Given the description of an element on the screen output the (x, y) to click on. 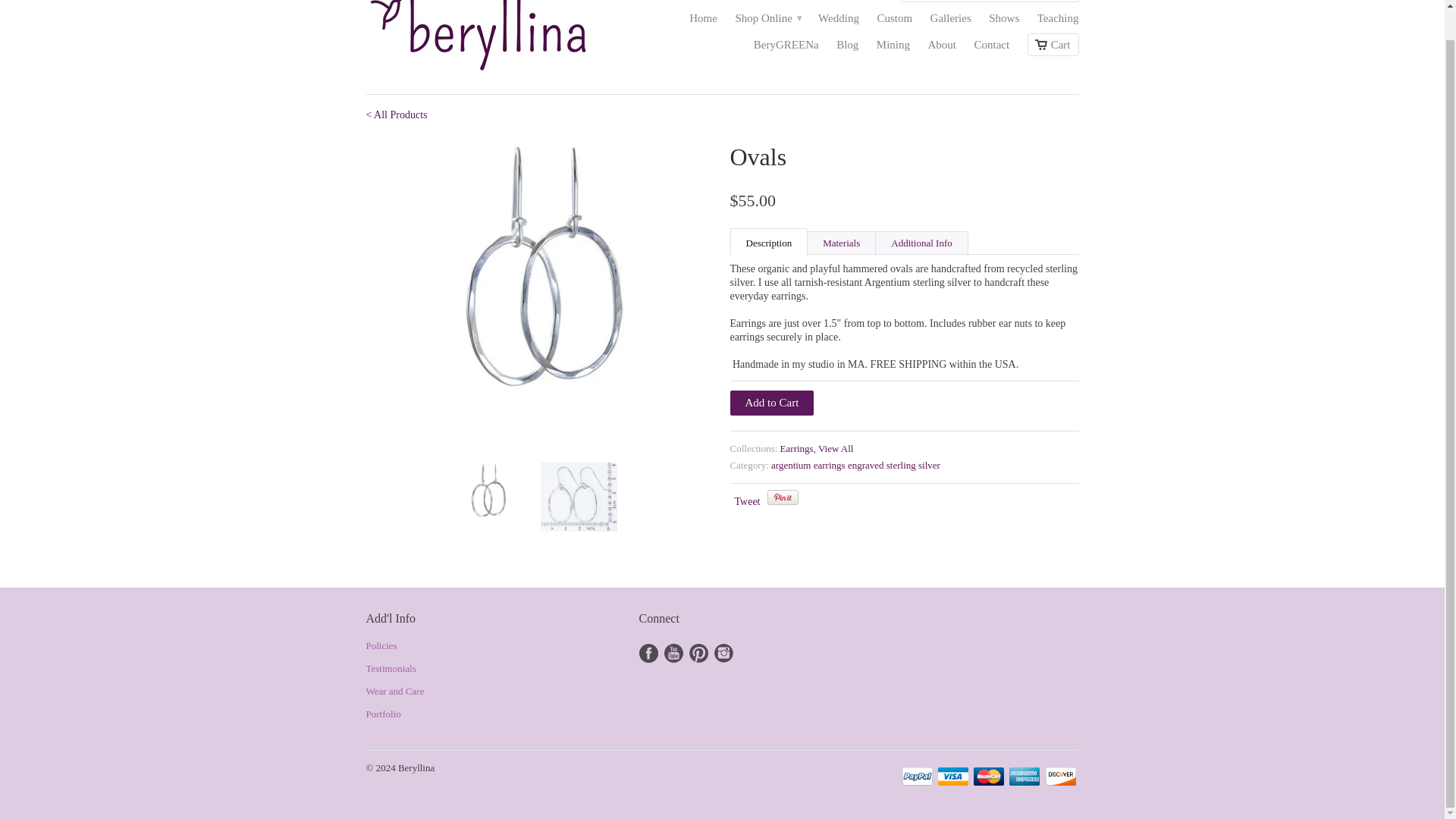
BeryGREENa (786, 47)
My Account (858, 2)
Galleries (950, 21)
Wedding (838, 21)
Contact (992, 47)
Blog (847, 47)
My Account  (858, 2)
Beryllina (478, 41)
About (942, 47)
Shop Online (767, 22)
Blog (847, 47)
Home (702, 21)
Custom (894, 21)
Home (702, 21)
Shows (1003, 21)
